Given the description of an element on the screen output the (x, y) to click on. 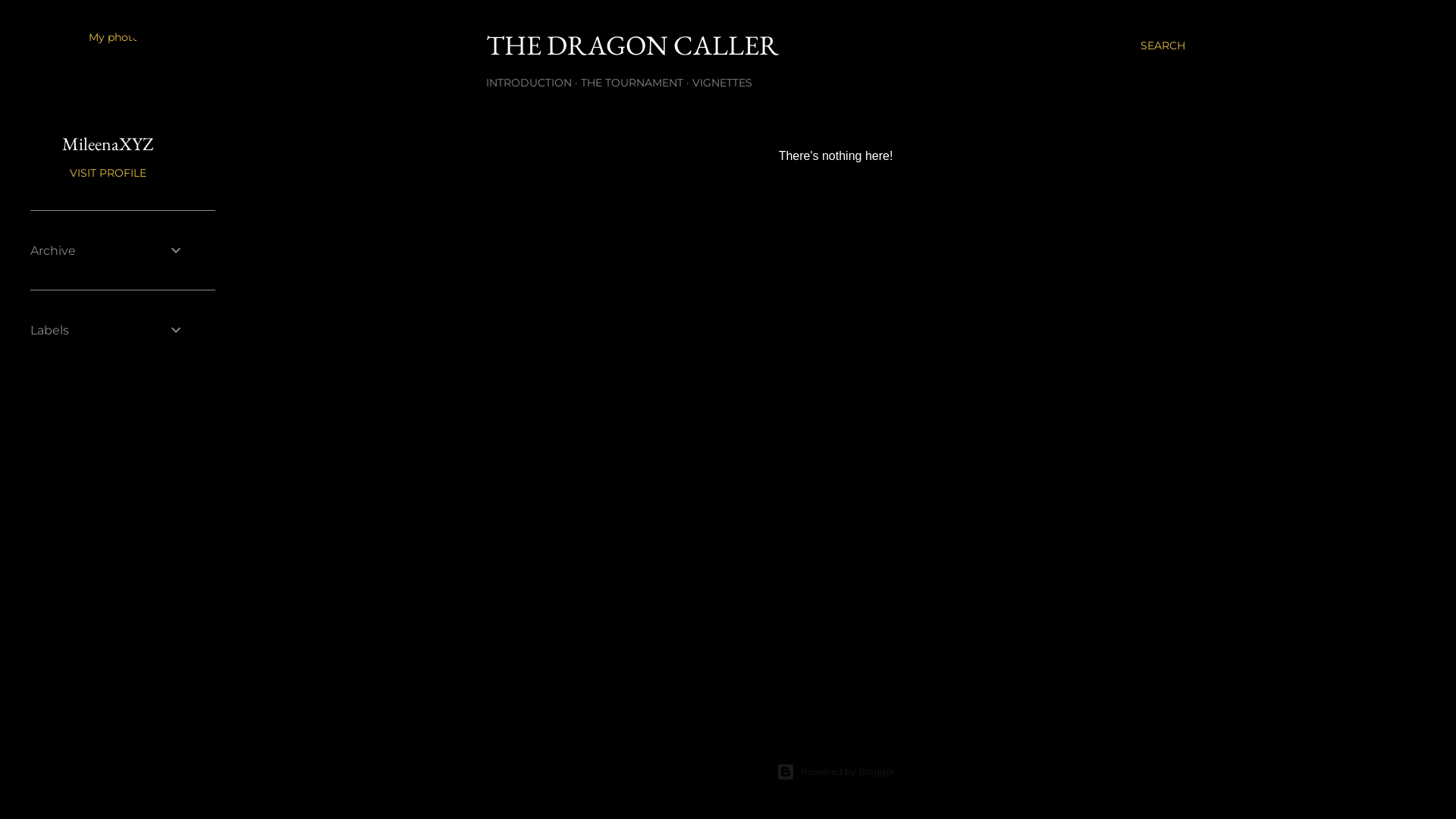
VIGNETTES Element type: text (722, 82)
VISIT PROFILE Element type: text (107, 172)
THE DRAGON CALLER Element type: text (632, 44)
SEARCH Element type: text (1162, 45)
MileenaXYZ Element type: text (107, 143)
INTRODUCTION Element type: text (528, 82)
THE TOURNAMENT Element type: text (631, 82)
